Given the description of an element on the screen output the (x, y) to click on. 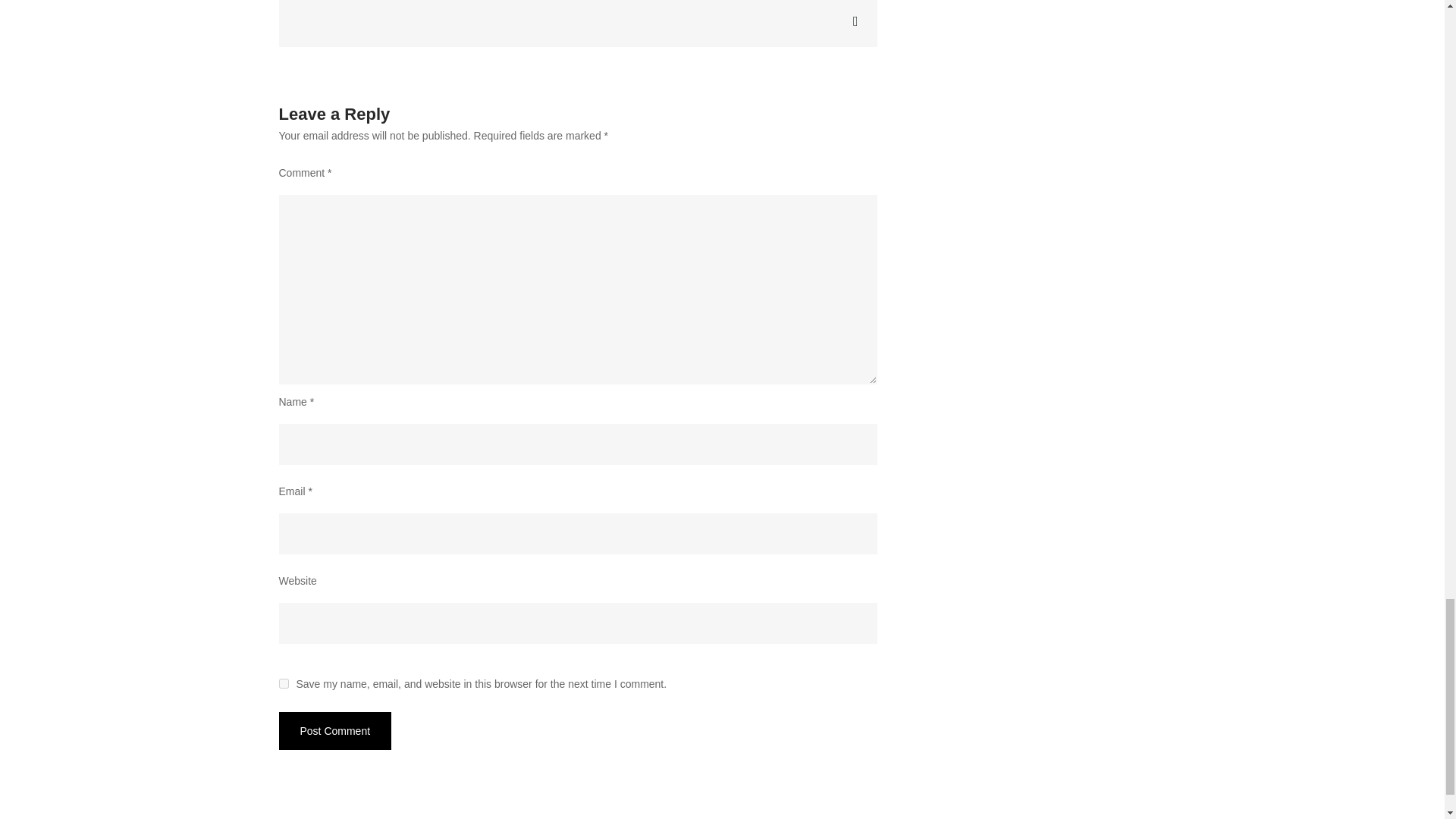
Post Comment (335, 730)
yes (283, 683)
Post Comment (335, 730)
